Given the description of an element on the screen output the (x, y) to click on. 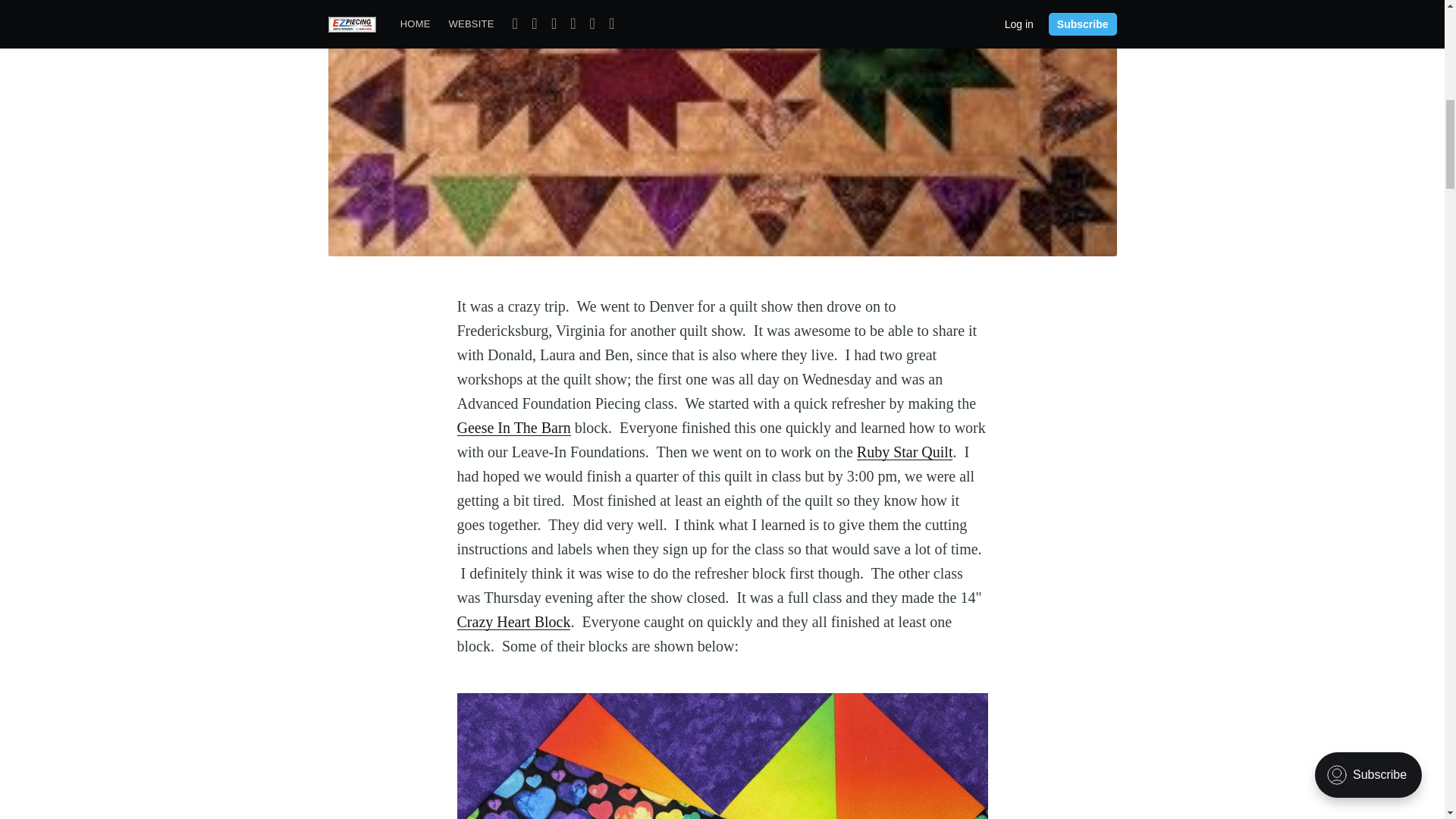
Crazy Heart Block (513, 621)
Geese In The Barn (513, 427)
Ruby Star Quilt (905, 451)
